Given the description of an element on the screen output the (x, y) to click on. 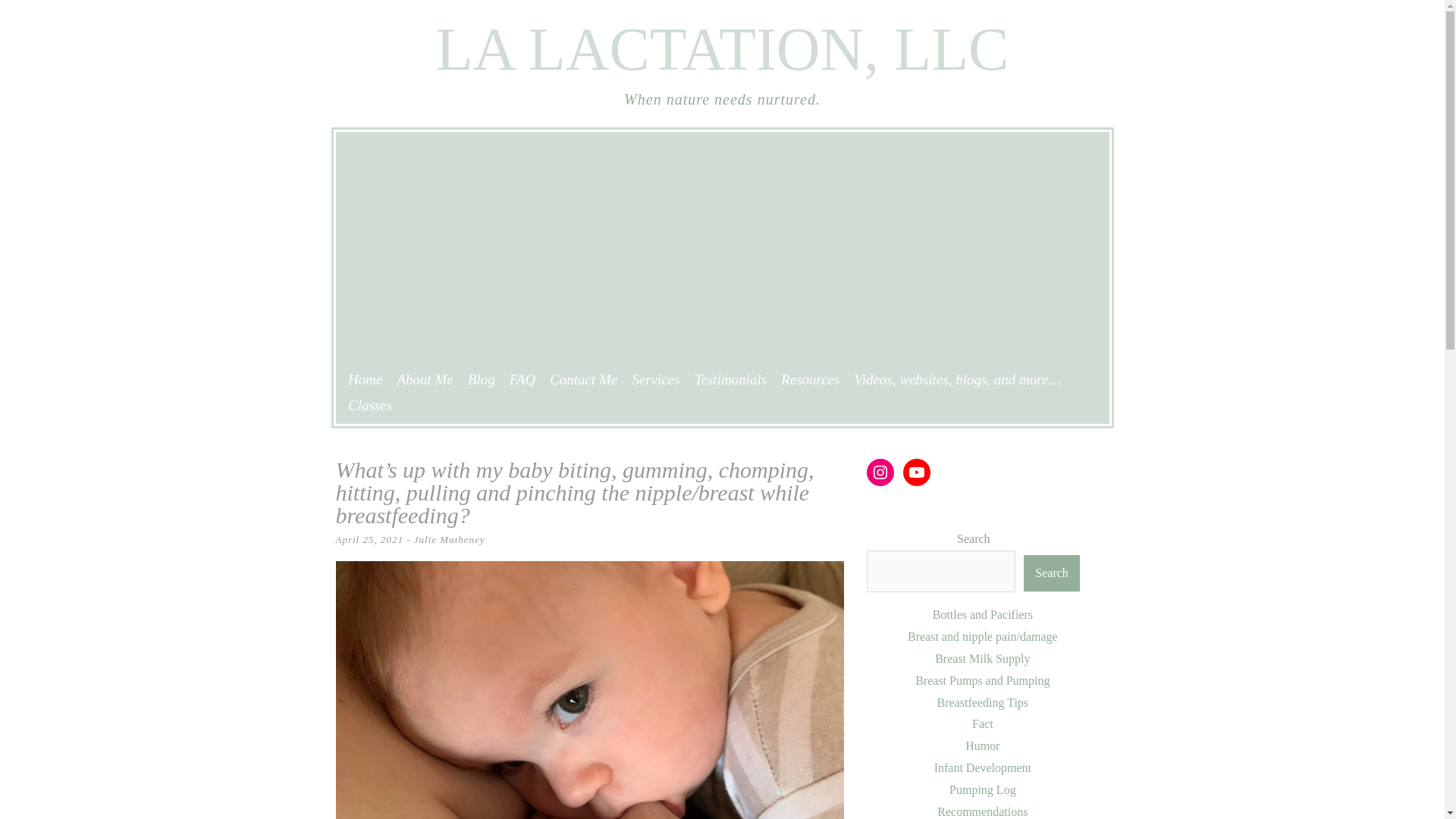
FAQ (522, 379)
Testimonials (730, 379)
Search (1051, 573)
Services (655, 379)
LA LACTATION, LLC (722, 48)
Classes (369, 405)
Contact Me (583, 379)
Bottles and Pacifiers (982, 614)
Breast Milk Supply (981, 658)
Humor (981, 745)
Breastfeeding Tips (982, 702)
Blog (481, 379)
Resources (810, 379)
Home (364, 379)
